Given the description of an element on the screen output the (x, y) to click on. 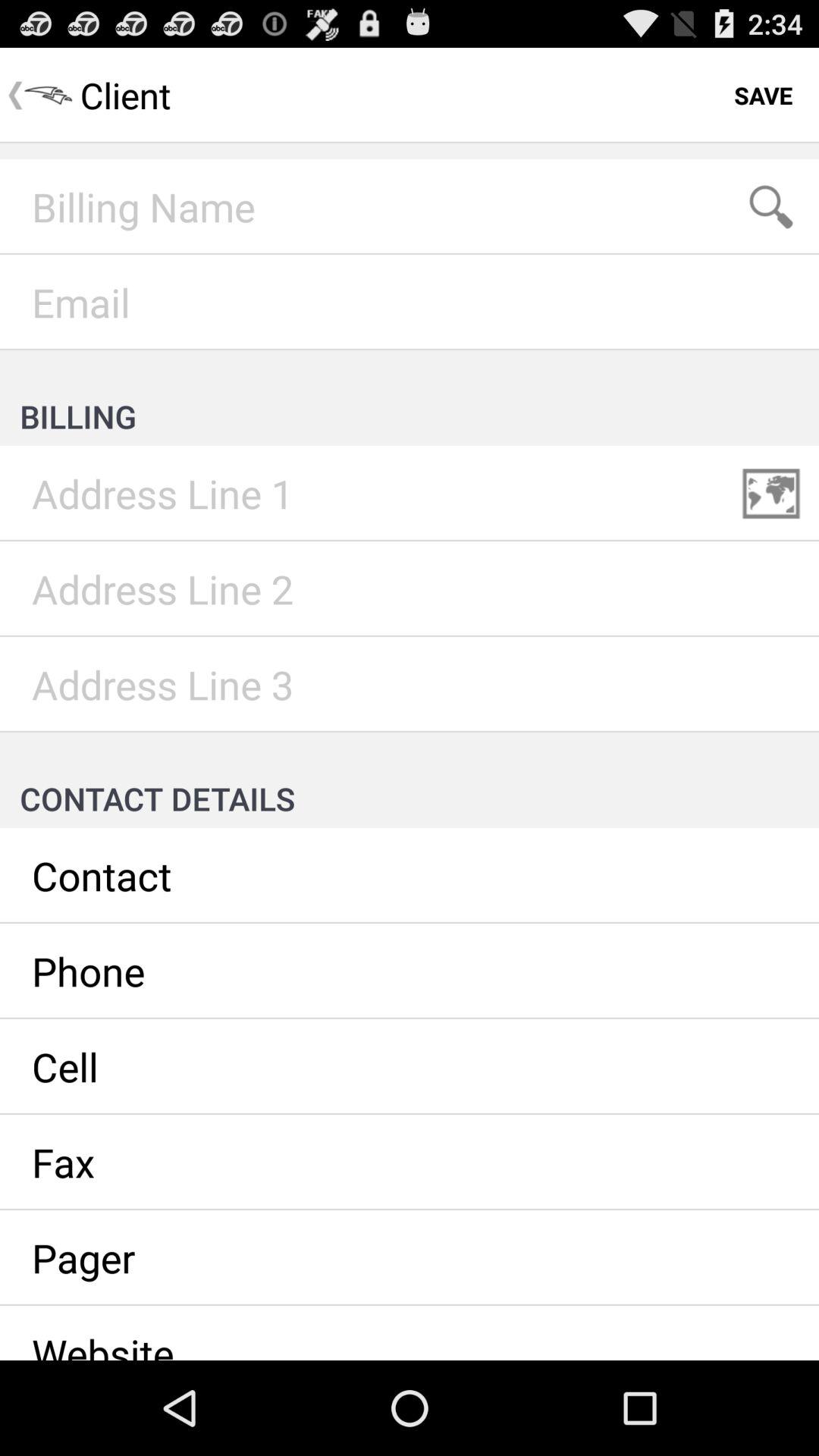
this is a mobile phone (409, 1066)
